Given the description of an element on the screen output the (x, y) to click on. 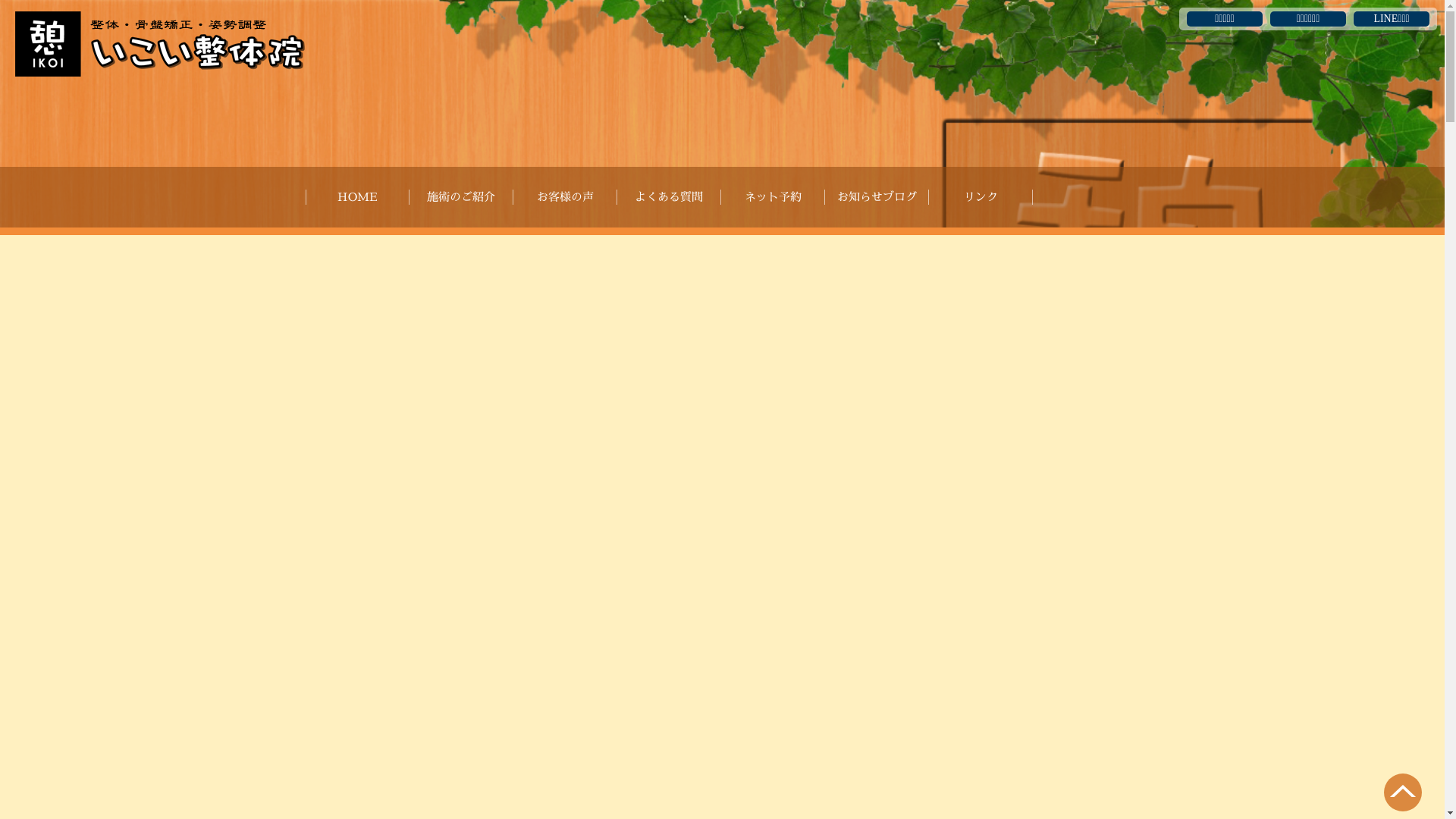
HOME Element type: text (356, 196)
